Given the description of an element on the screen output the (x, y) to click on. 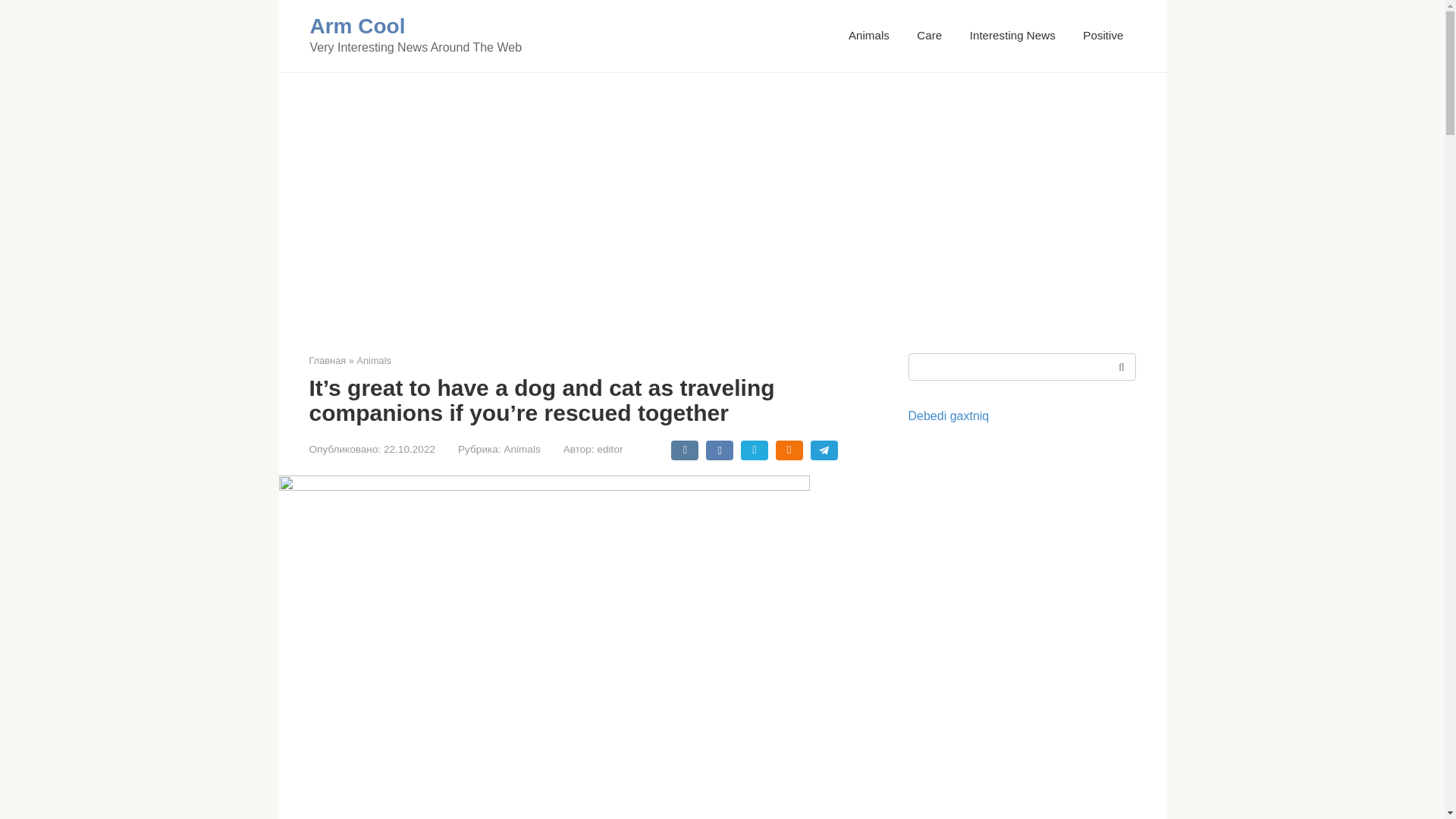
Debedi gaxtniq (949, 415)
Animals (521, 449)
Positive (1102, 35)
Animals (373, 360)
Arm Cool (356, 25)
Animals (868, 35)
Care (929, 35)
Interesting News (1012, 35)
